Given the description of an element on the screen output the (x, y) to click on. 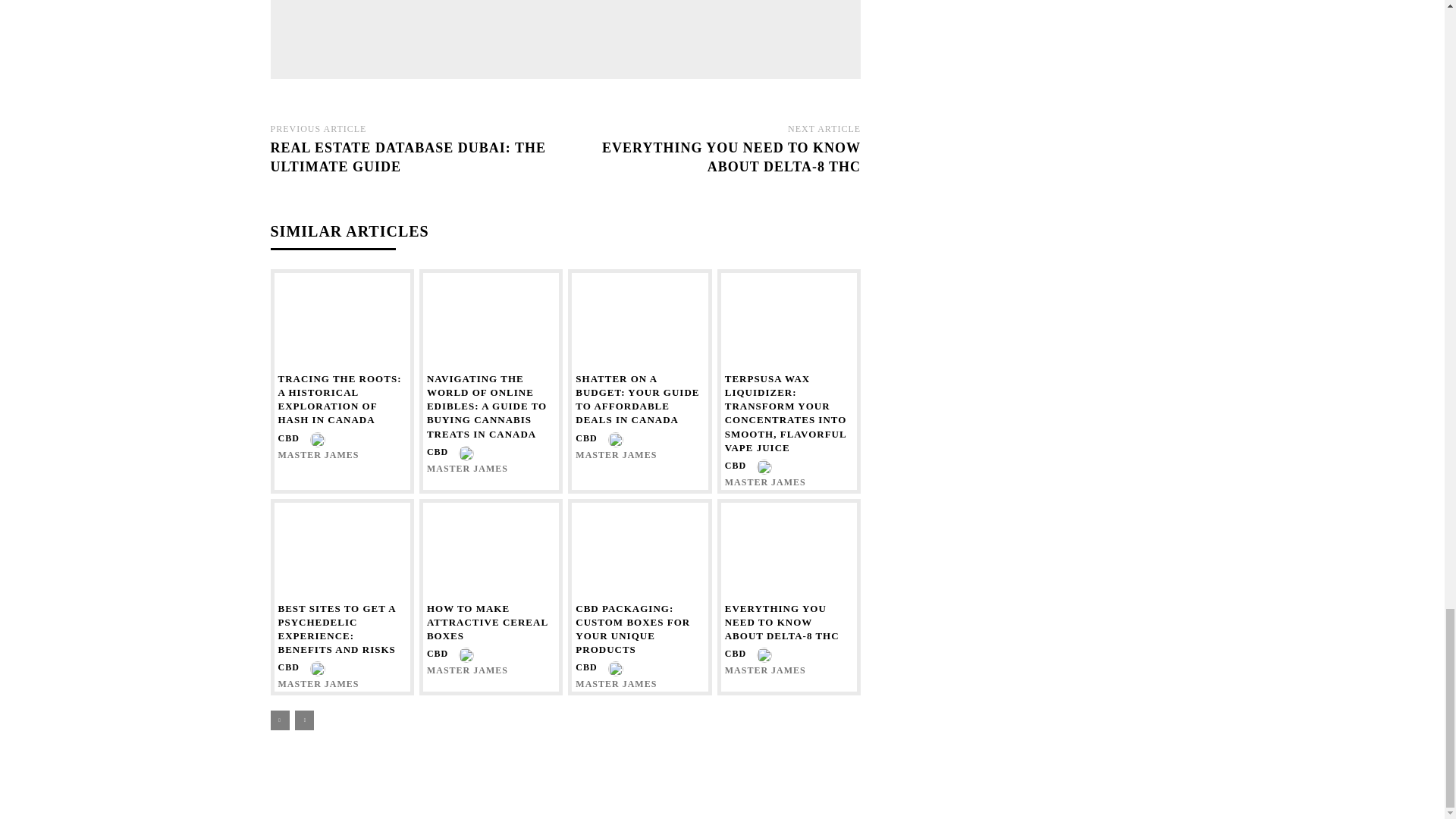
Master James (475, 31)
